Given the description of an element on the screen output the (x, y) to click on. 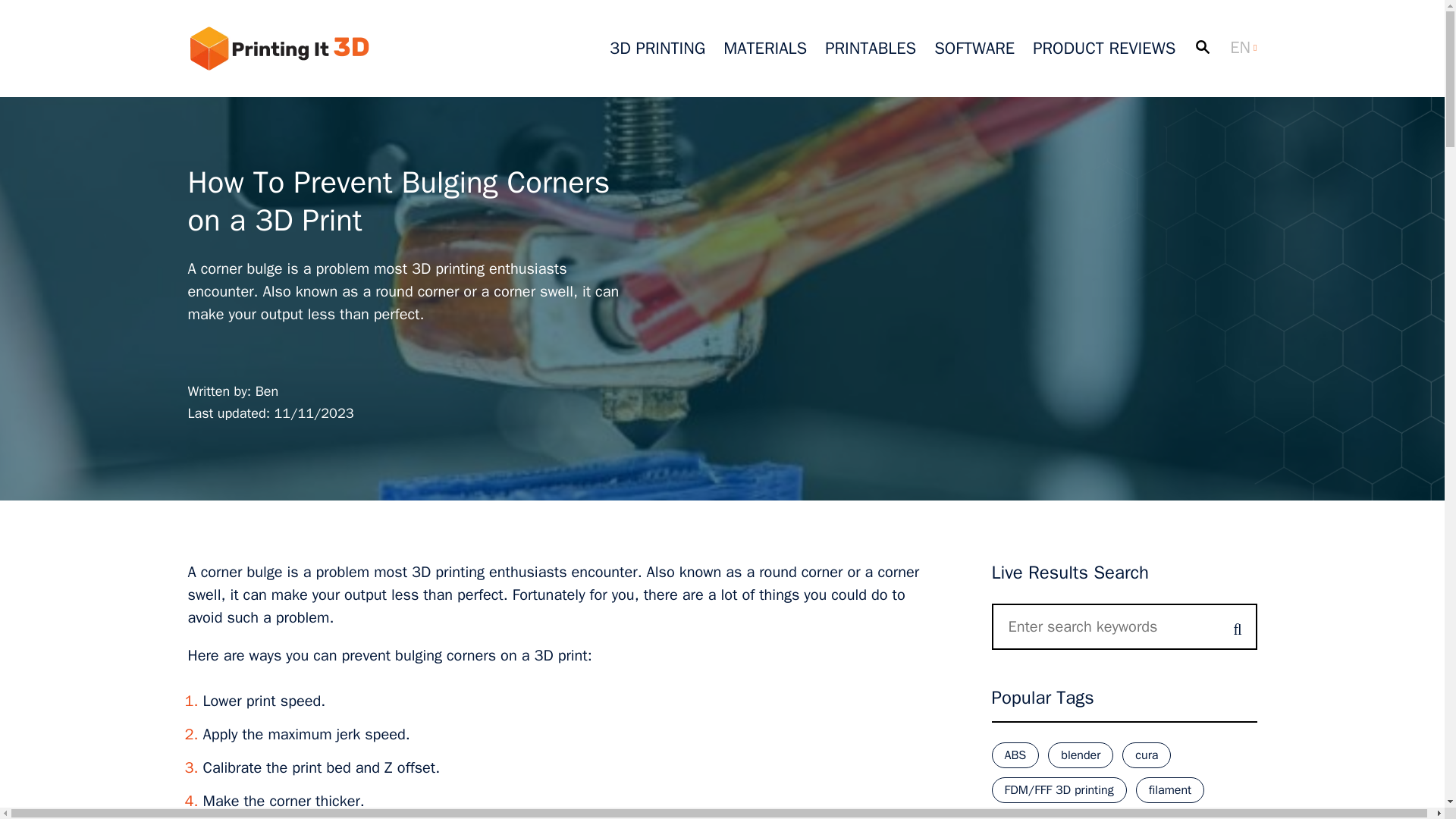
PRODUCT REVIEWS (1103, 48)
3D PRINTING (657, 48)
SOFTWARE (974, 48)
PRINTABLES (870, 48)
MATERIALS (764, 48)
Printing It 3D (278, 48)
Search for: (1124, 626)
